Given the description of an element on the screen output the (x, y) to click on. 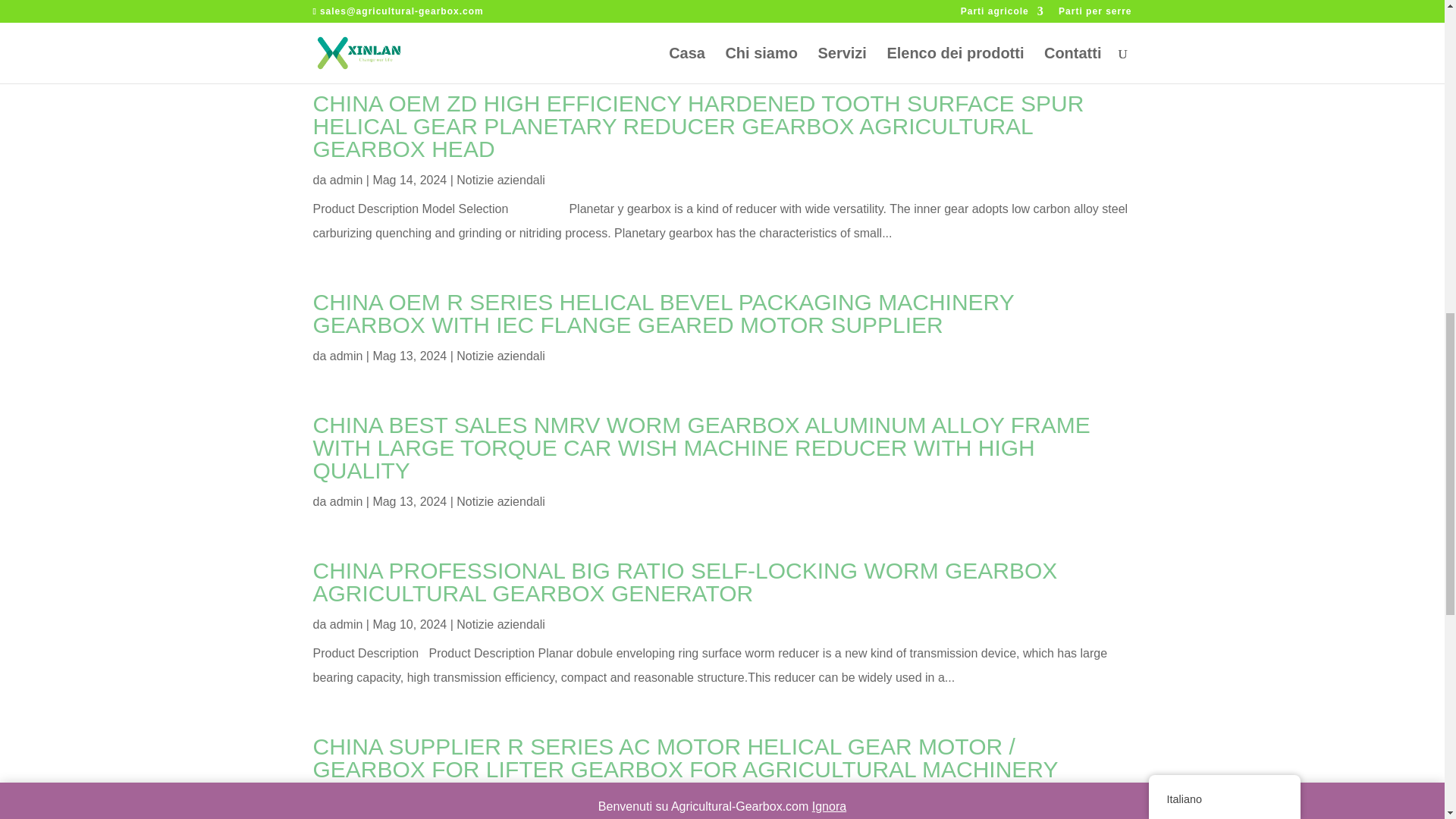
Notizie aziendali (500, 33)
Post di admin (346, 501)
Post di admin (346, 33)
Post di admin (346, 799)
Post di admin (346, 355)
Post di admin (346, 624)
Post di admin (346, 179)
admin (346, 33)
